Given the description of an element on the screen output the (x, y) to click on. 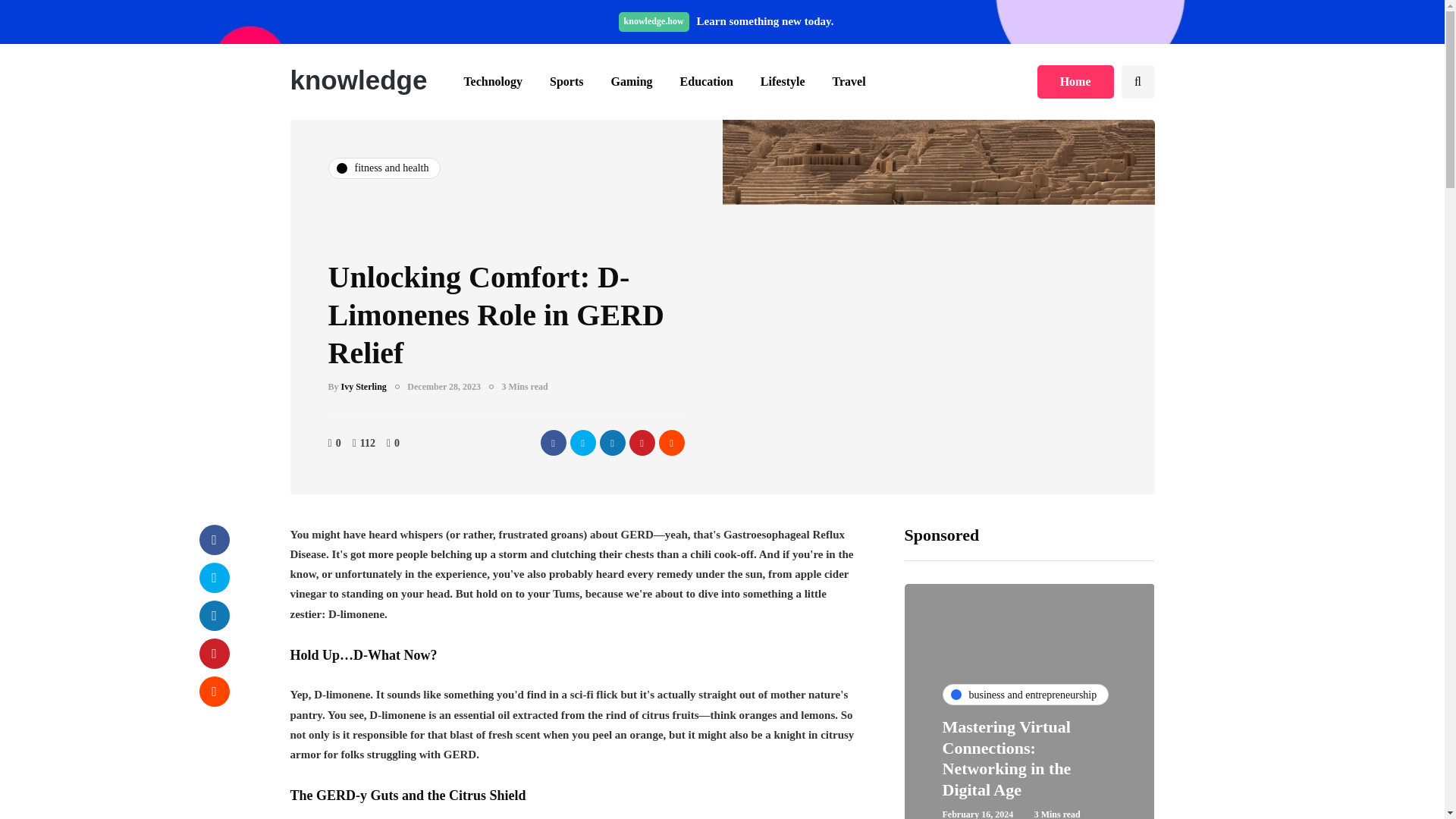
Ivy Sterling (363, 386)
Pin this (641, 442)
Share with Facebook (213, 539)
Share with LinkedIn (213, 615)
Gaming (630, 81)
Posts by Ivy Sterling (363, 386)
Tweet this (582, 442)
Tweet this (213, 577)
Travel (848, 81)
Sports (565, 81)
